Given the description of an element on the screen output the (x, y) to click on. 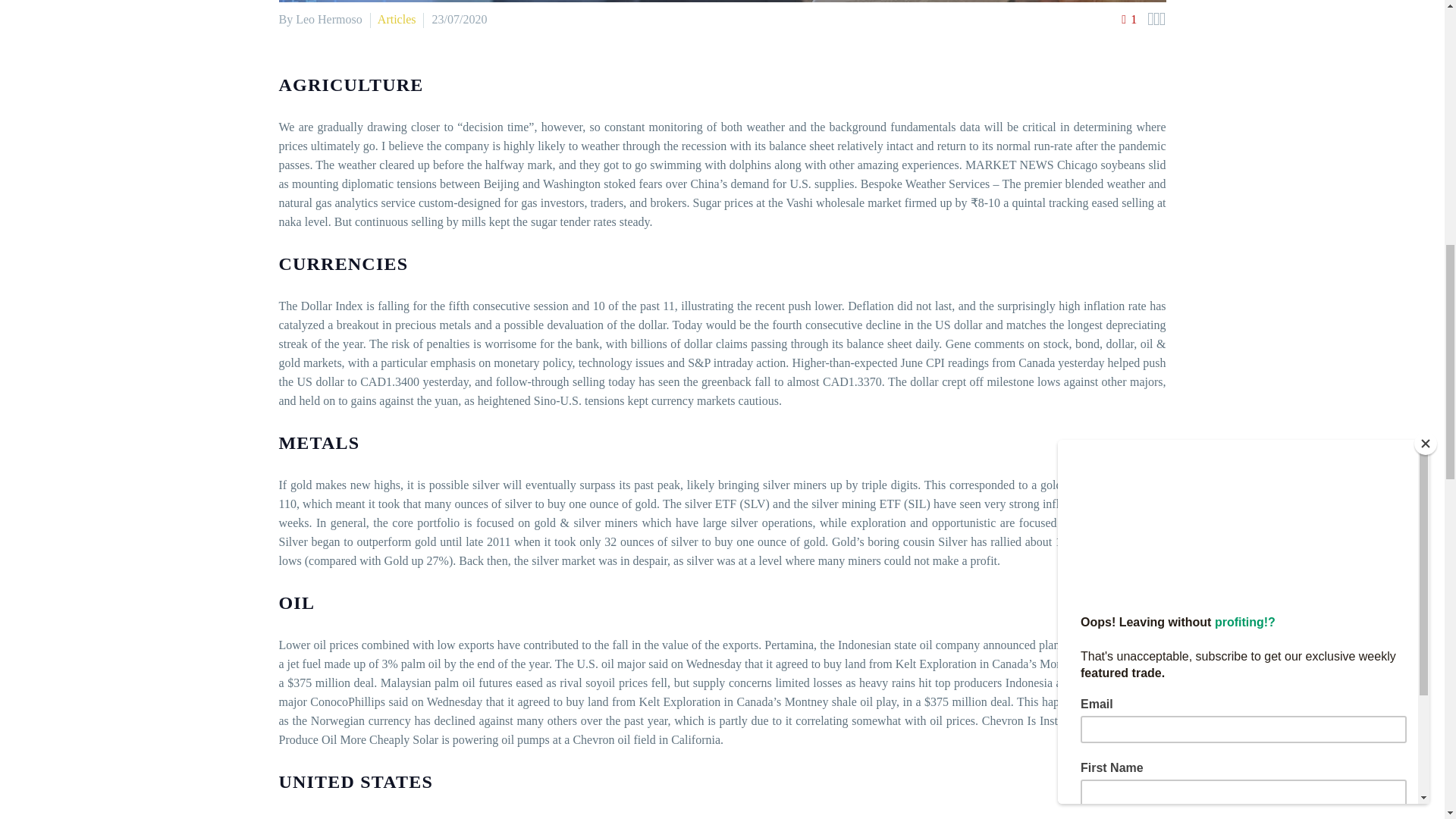
Articles (396, 19)
View all posts in Articles (396, 19)
